Given the description of an element on the screen output the (x, y) to click on. 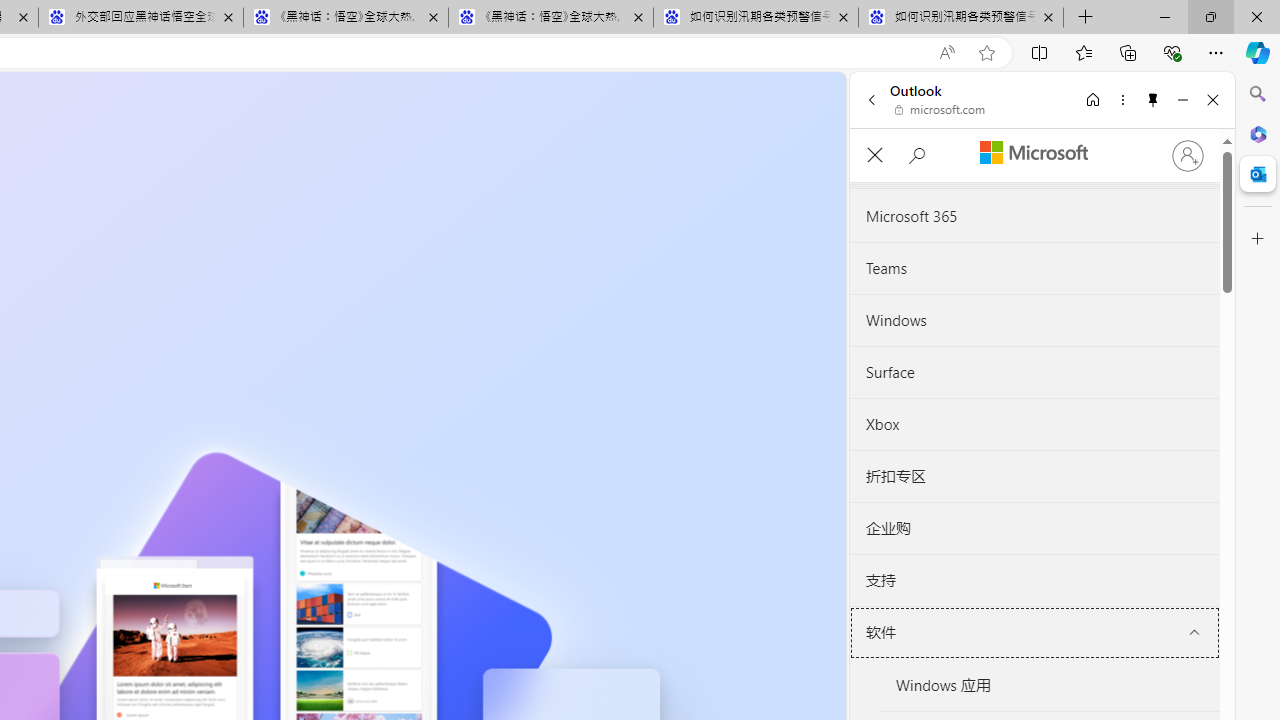
Xbox (1034, 424)
microsoft.com (940, 110)
Close All Microsoft list (874, 155)
Unpin side pane (1153, 99)
Teams (1034, 269)
